Given the description of an element on the screen output the (x, y) to click on. 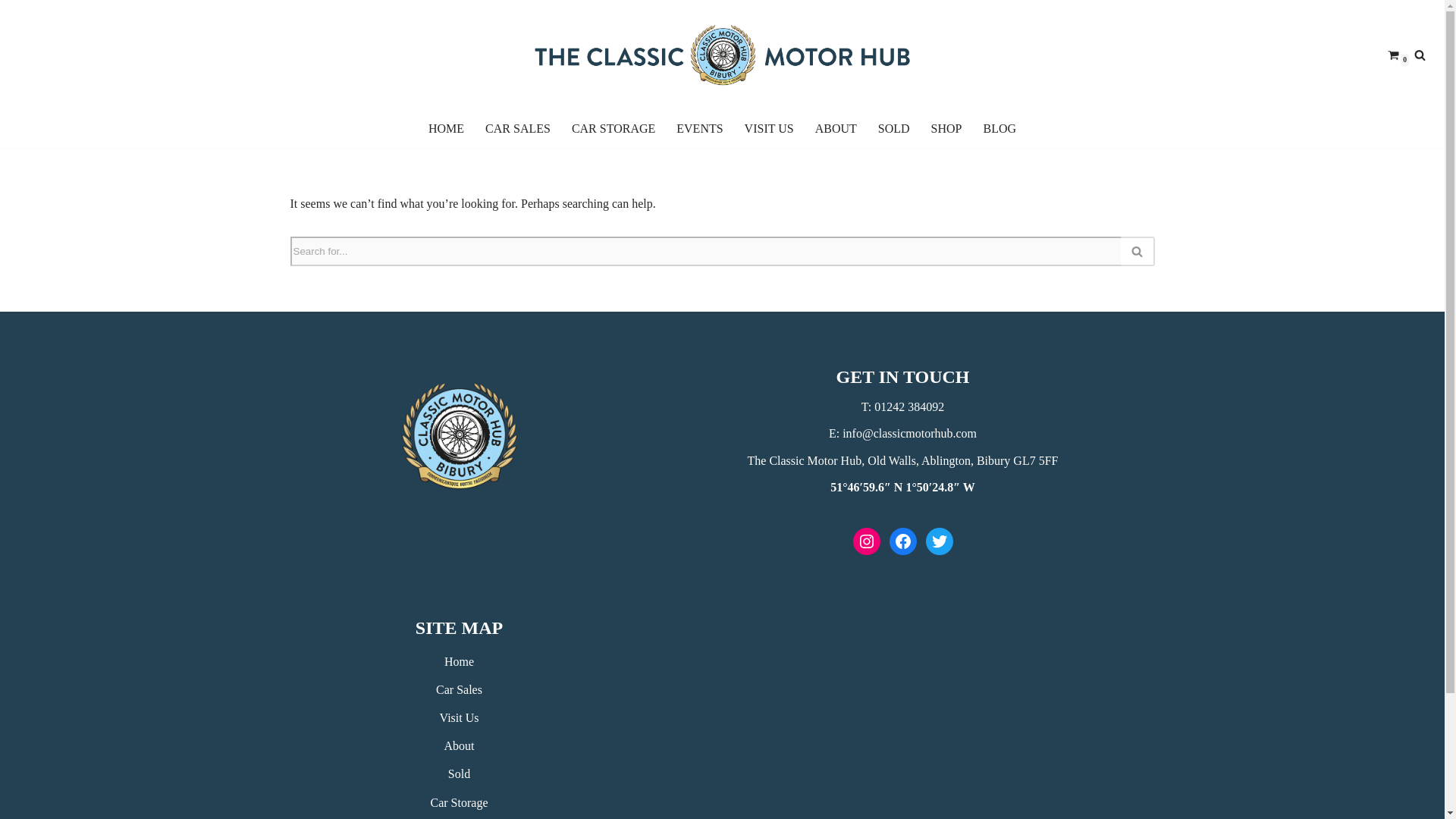
Sold (459, 773)
HOME (446, 128)
01242 384092 (909, 406)
VISIT US (768, 128)
Visit Us (459, 717)
EVENTS (699, 128)
0 (1393, 53)
CAR STORAGE (613, 128)
Car Sales (458, 689)
About (459, 745)
Home (459, 661)
CAR SALES (517, 128)
Car Storage (458, 802)
SHOP (946, 128)
SOLD (893, 128)
